Given the description of an element on the screen output the (x, y) to click on. 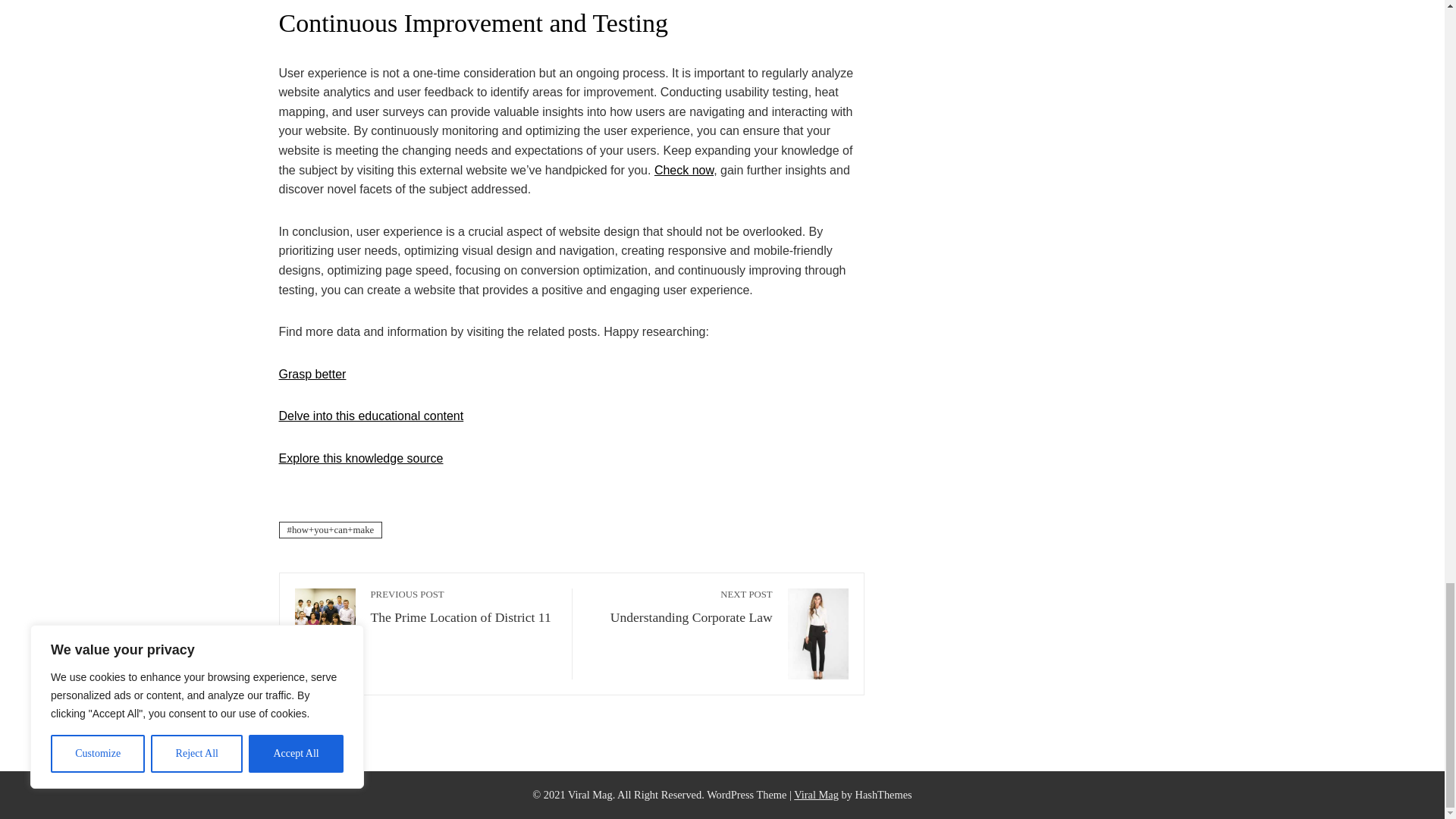
Delve into this educational content (462, 606)
Download Viral News (371, 415)
Explore this knowledge source (815, 794)
Grasp better (361, 458)
Check now (680, 606)
